Given the description of an element on the screen output the (x, y) to click on. 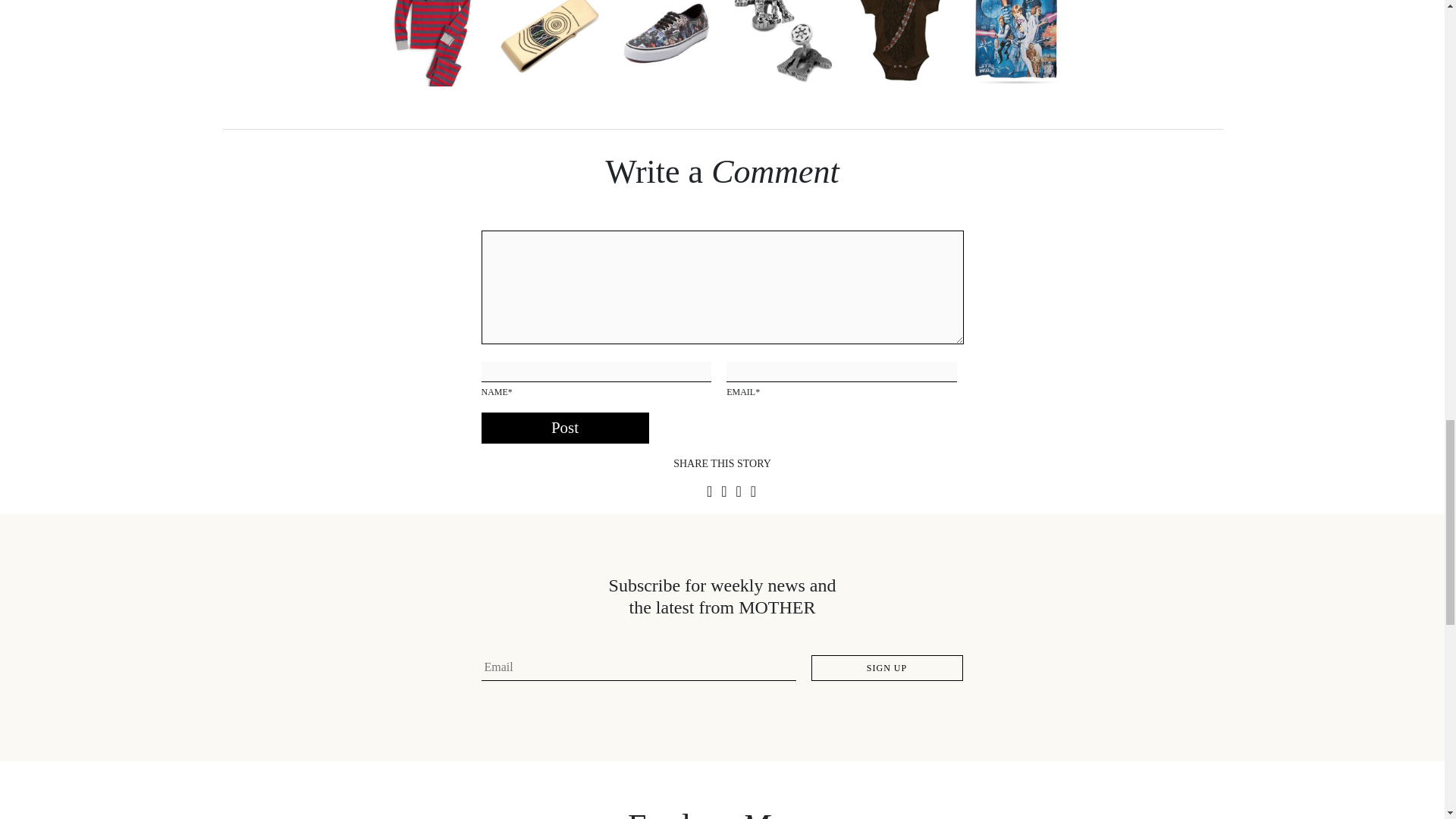
Sign Up (886, 667)
Post (563, 428)
